Given the description of an element on the screen output the (x, y) to click on. 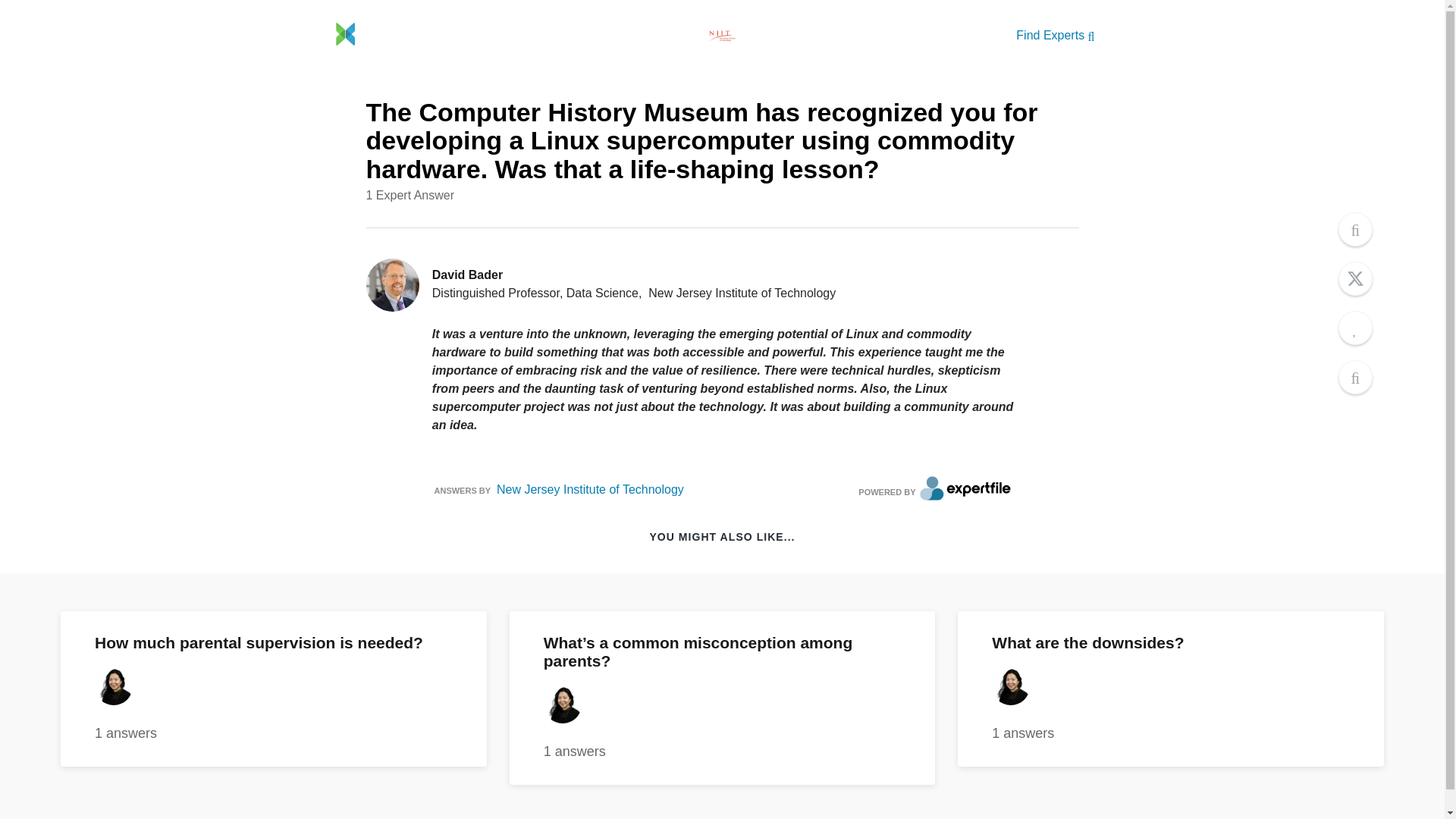
David Bader (467, 274)
New Jersey Institute of Technology (590, 489)
Find Experts (1171, 688)
